Given the description of an element on the screen output the (x, y) to click on. 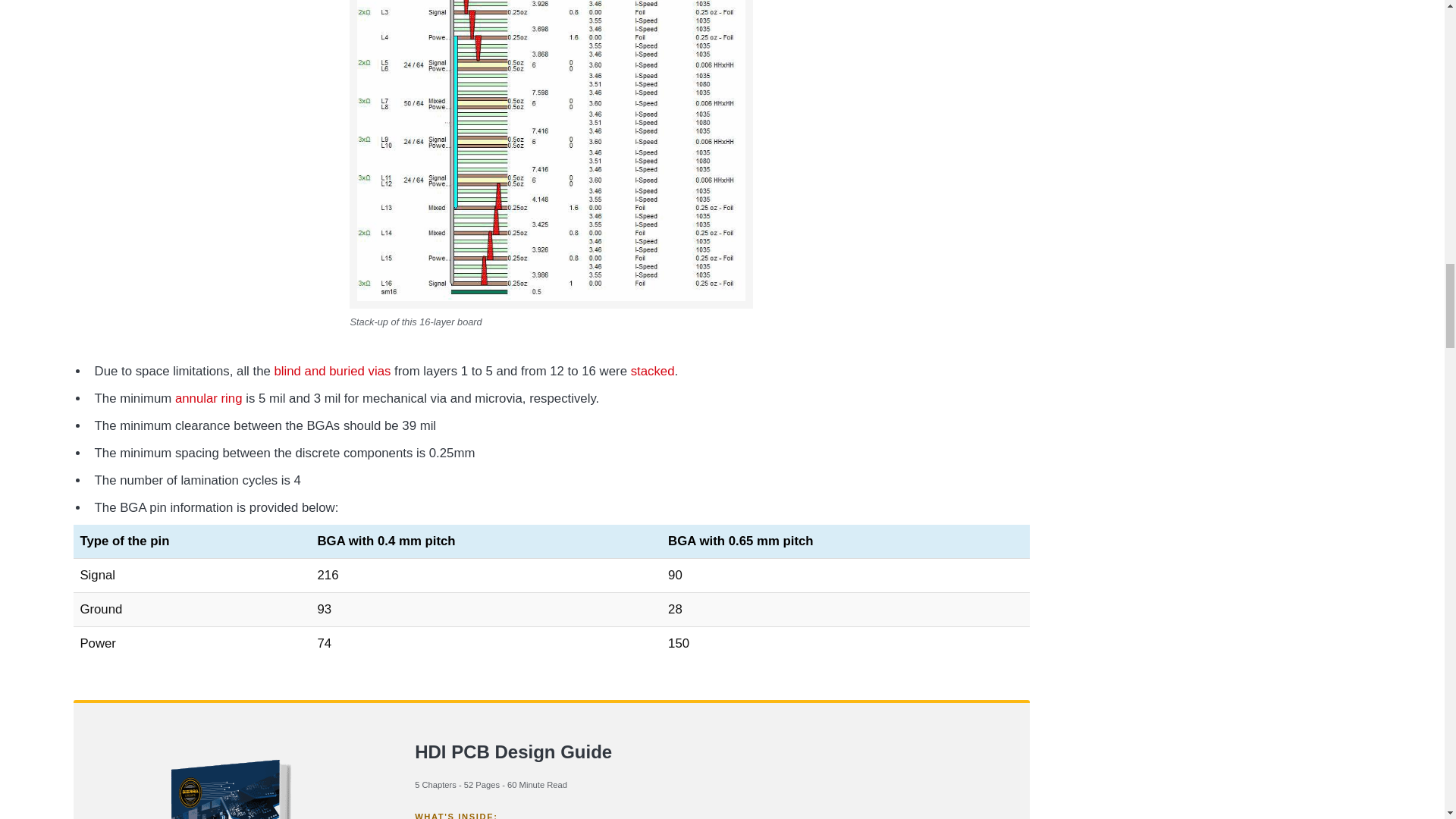
Stack-up of this 16-layer board (550, 154)
